Given the description of an element on the screen output the (x, y) to click on. 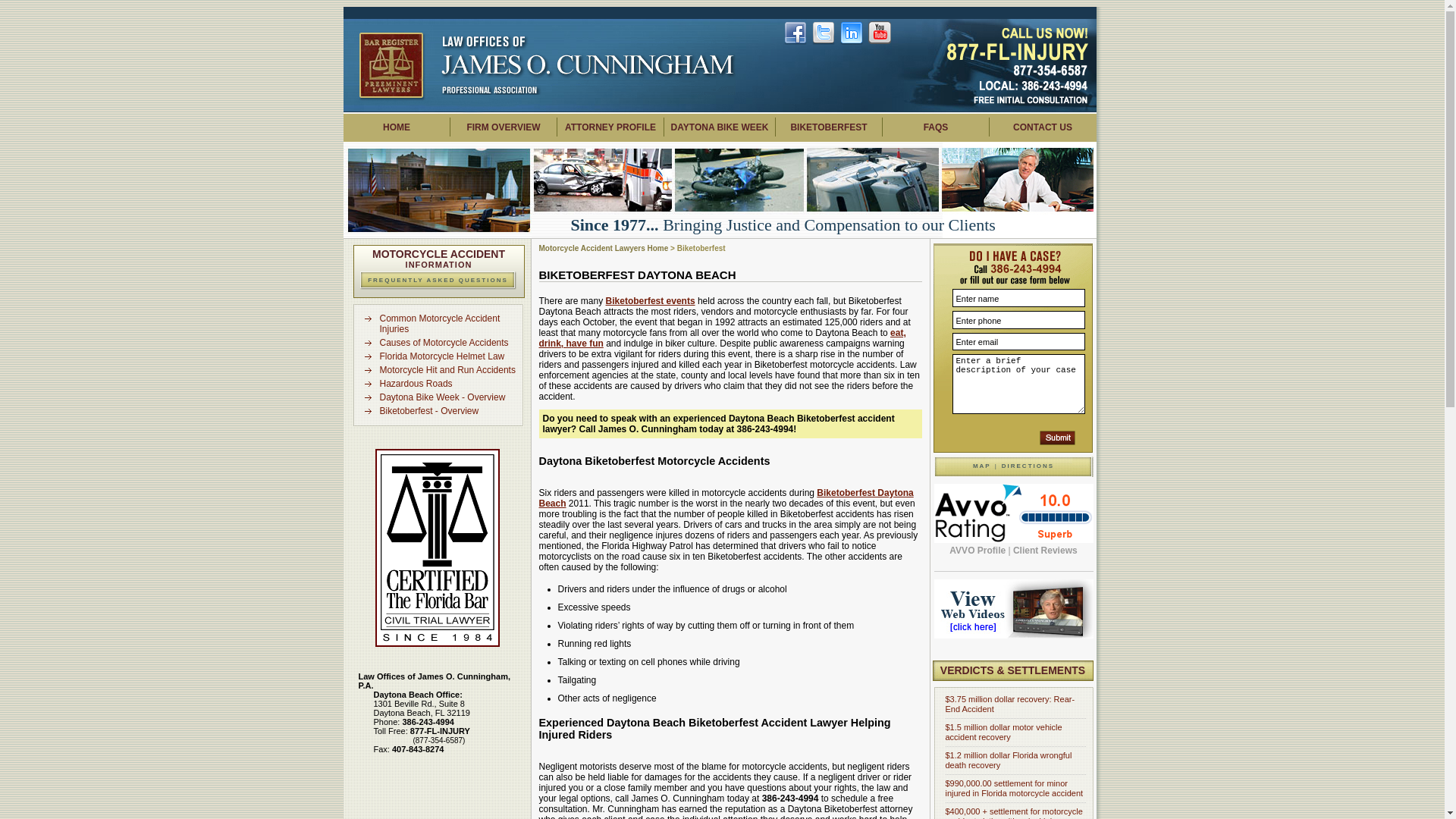
Biketoberfest events (650, 300)
Watch our YouTube Videos (879, 32)
DAYTONA BIKE WEEK (719, 127)
MAP (981, 465)
Client Reviews (1045, 550)
Enter email (1018, 341)
HOME (395, 127)
Follow us on LinkedIn (850, 32)
DIRECTIONS (1027, 465)
BIKETOBERFEST (828, 127)
Enter name (1018, 298)
FAQS (936, 127)
Follow us on Twitter (822, 32)
eat, drink, have fun (721, 337)
Biketoberfest Daytona Beach (725, 497)
